Given the description of an element on the screen output the (x, y) to click on. 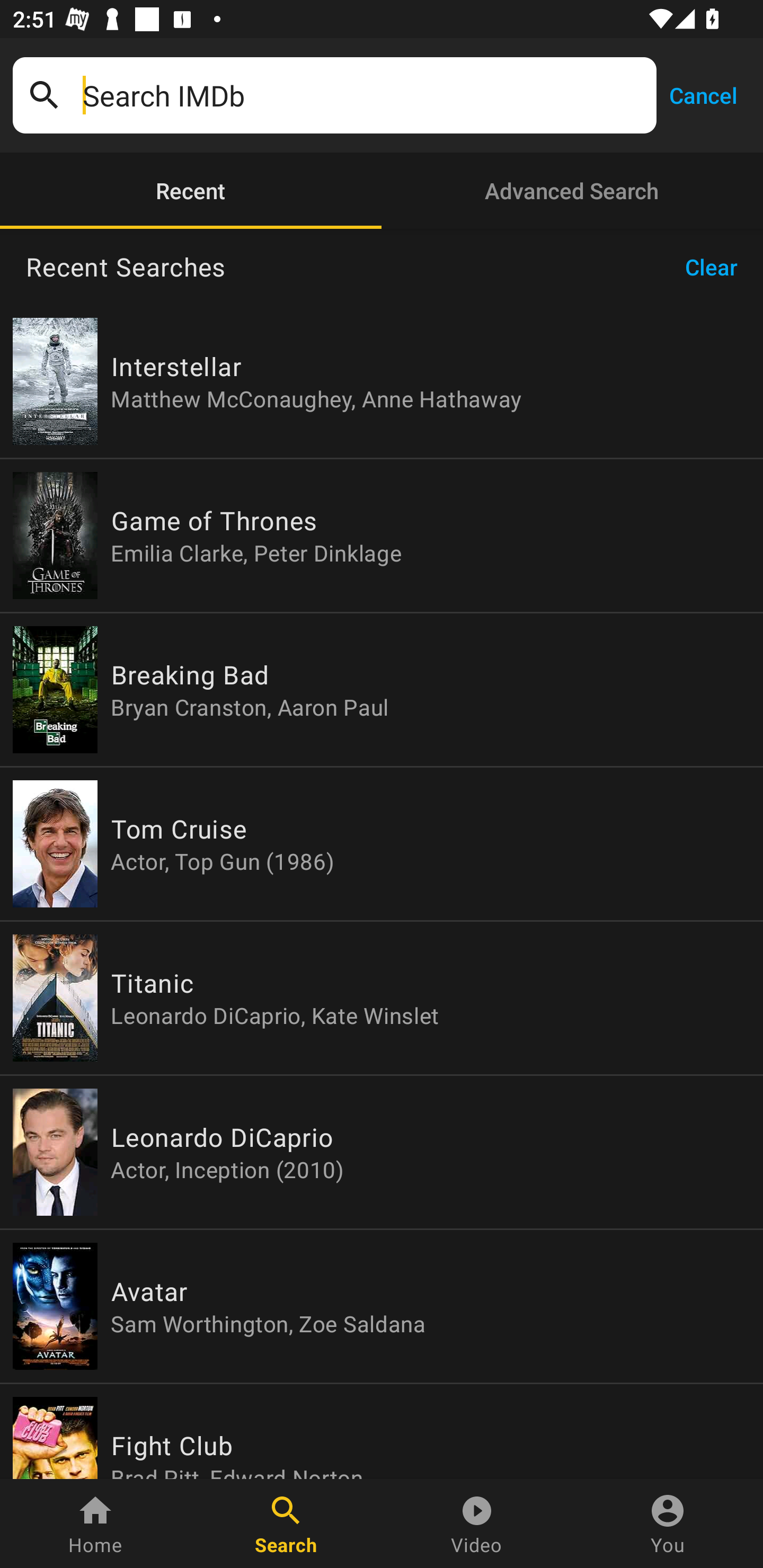
Cancel (703, 94)
Search IMDb (363, 95)
Advanced Search (572, 190)
Clear (717, 266)
Interstellar Matthew McConaughey, Anne Hathaway (381, 381)
Game of Thrones Emilia Clarke, Peter Dinklage (381, 535)
Breaking Bad Bryan Cranston, Aaron Paul (381, 689)
Tom Cruise Actor, Top Gun (1986) (381, 844)
Titanic Leonardo DiCaprio, Kate Winslet (381, 997)
Leonardo DiCaprio Actor, Inception (2010) (381, 1151)
Avatar Sam Worthington, Zoe Saldana (381, 1305)
Fight Club Brad Pitt, Edward Norton (381, 1431)
Home (95, 1523)
Video (476, 1523)
You (667, 1523)
